Given the description of an element on the screen output the (x, y) to click on. 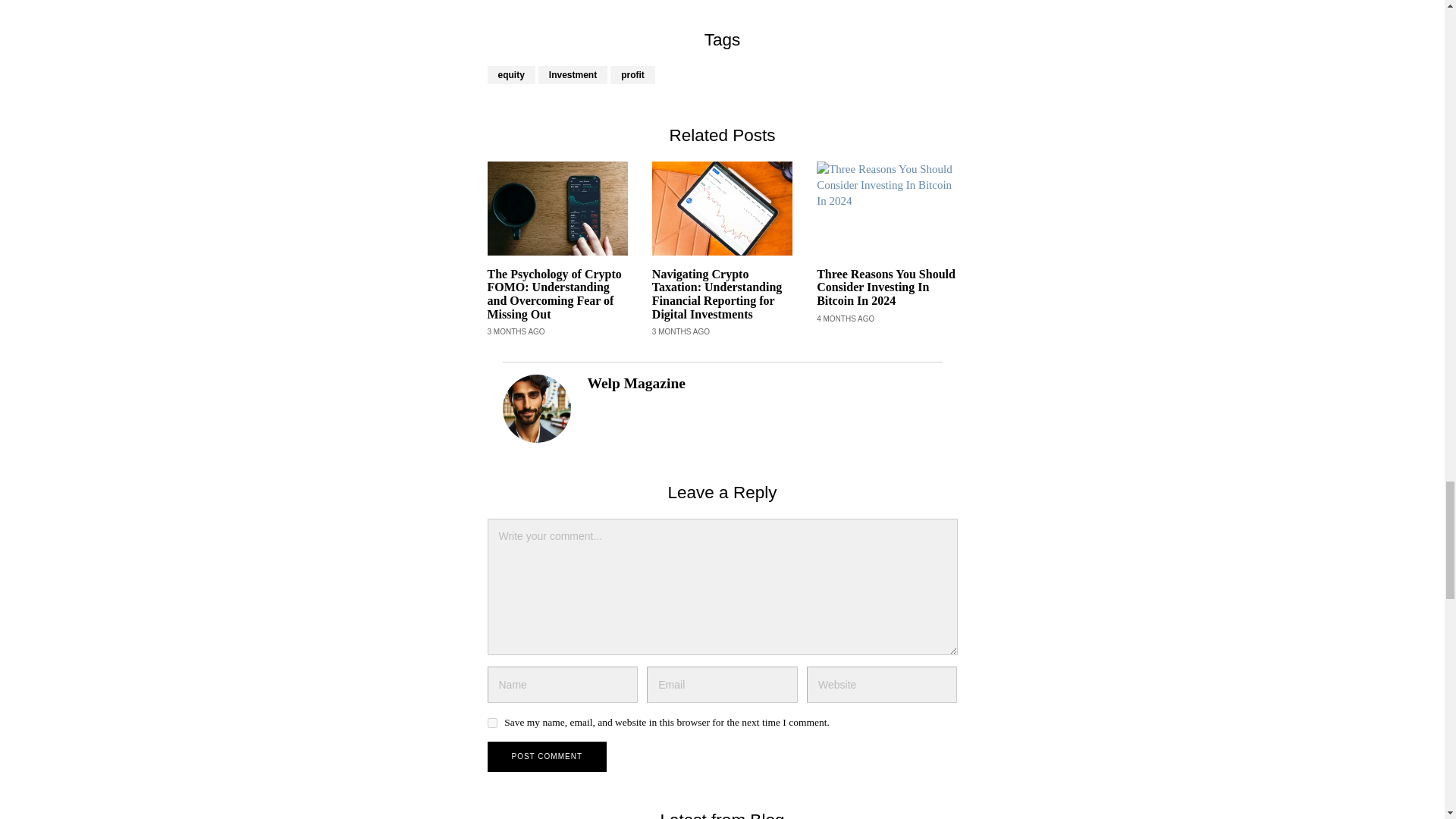
23 Apr, 2024 12:27:59 (681, 331)
yes (491, 723)
20 Mar, 2024 00:57:09 (845, 318)
23 Apr, 2024 13:13:00 (515, 331)
Post Comment (545, 757)
